Given the description of an element on the screen output the (x, y) to click on. 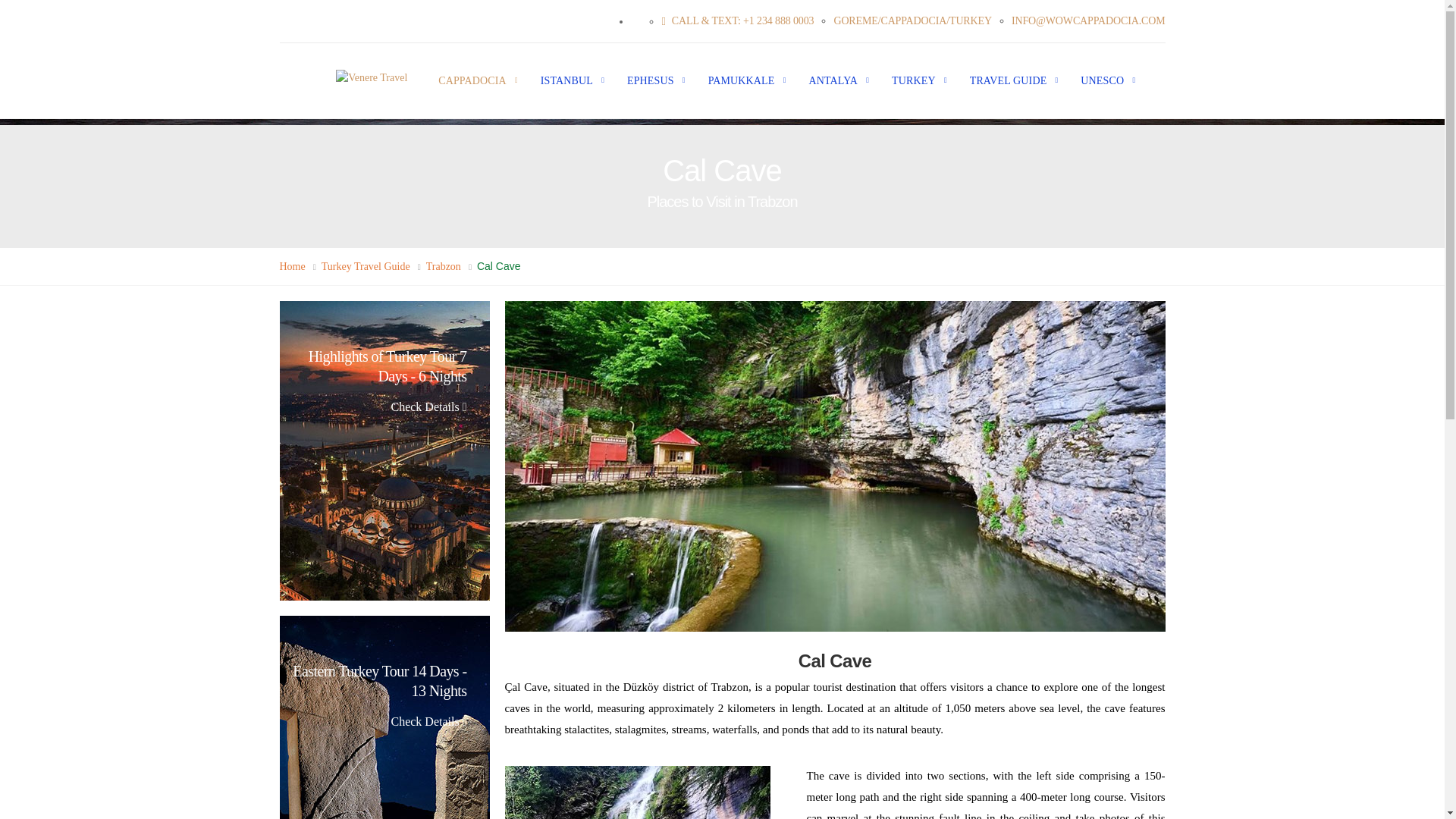
Welcome to Venere Travel Website (375, 78)
Eastern Turkey Tour (384, 717)
CAPPADOCIA (466, 79)
Cal Cave (637, 792)
